Given the description of an element on the screen output the (x, y) to click on. 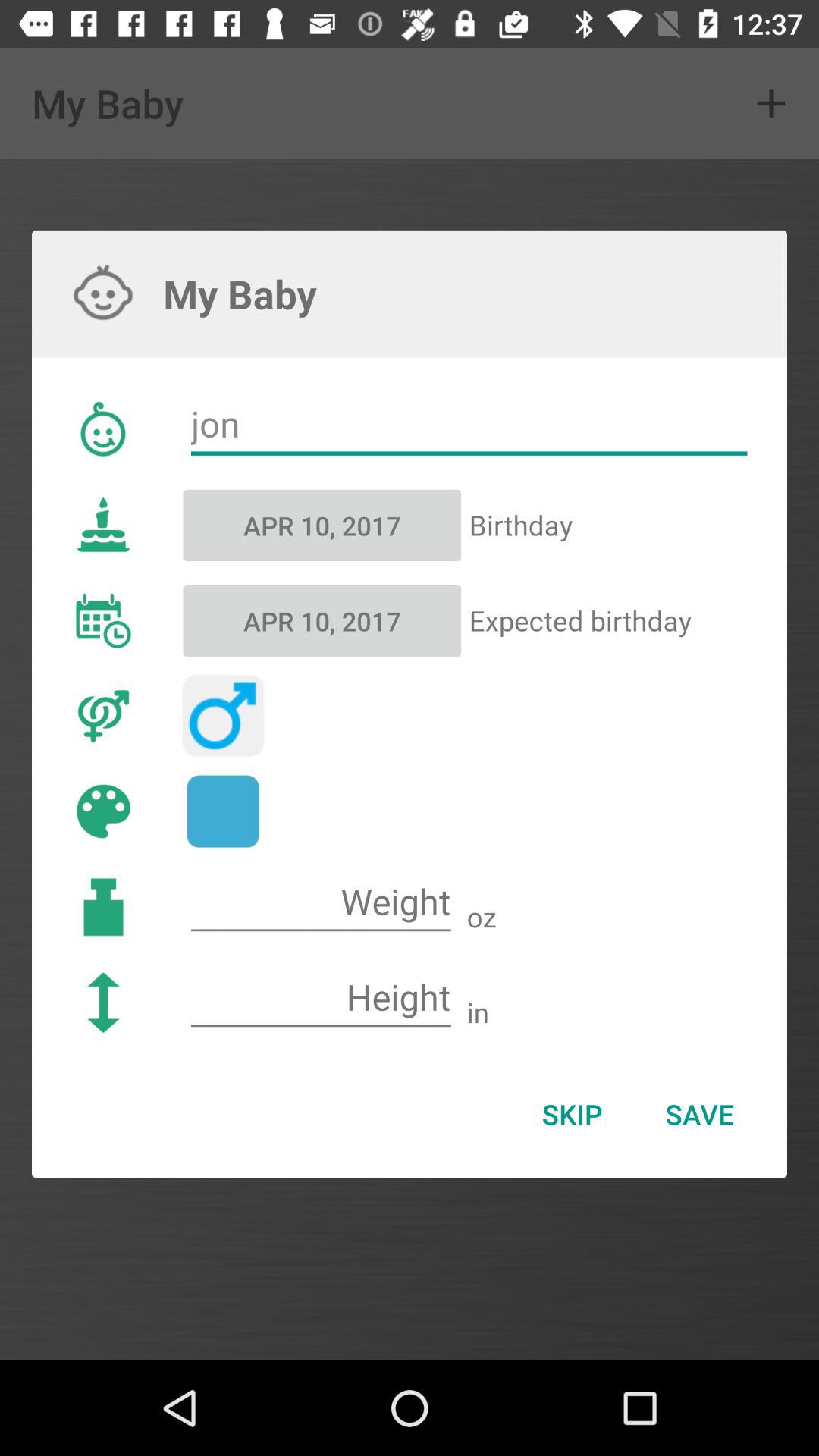
enter a value height in inches (320, 998)
